Given the description of an element on the screen output the (x, y) to click on. 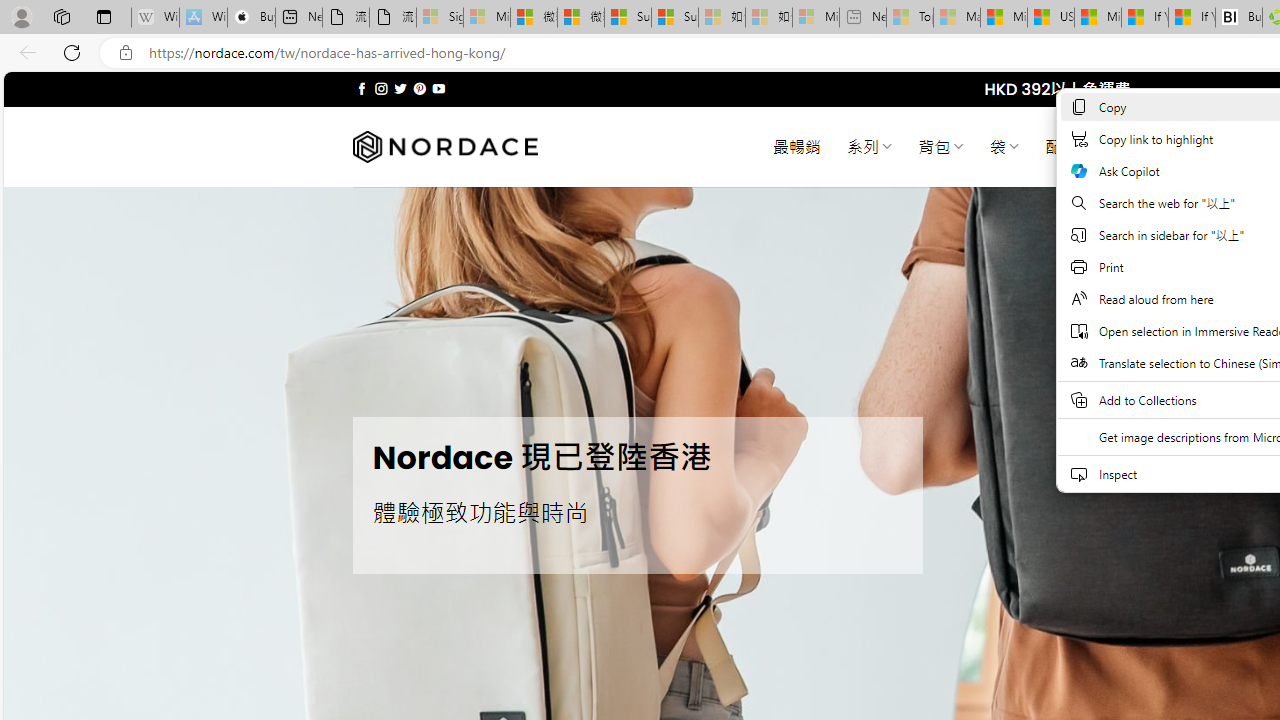
Follow on Facebook (361, 88)
Follow on Twitter (400, 88)
Microsoft Services Agreement - Sleeping (486, 17)
Follow on Pinterest (419, 88)
Microsoft account | Account Checkup - Sleeping (815, 17)
Follow on YouTube (438, 88)
